Given the description of an element on the screen output the (x, y) to click on. 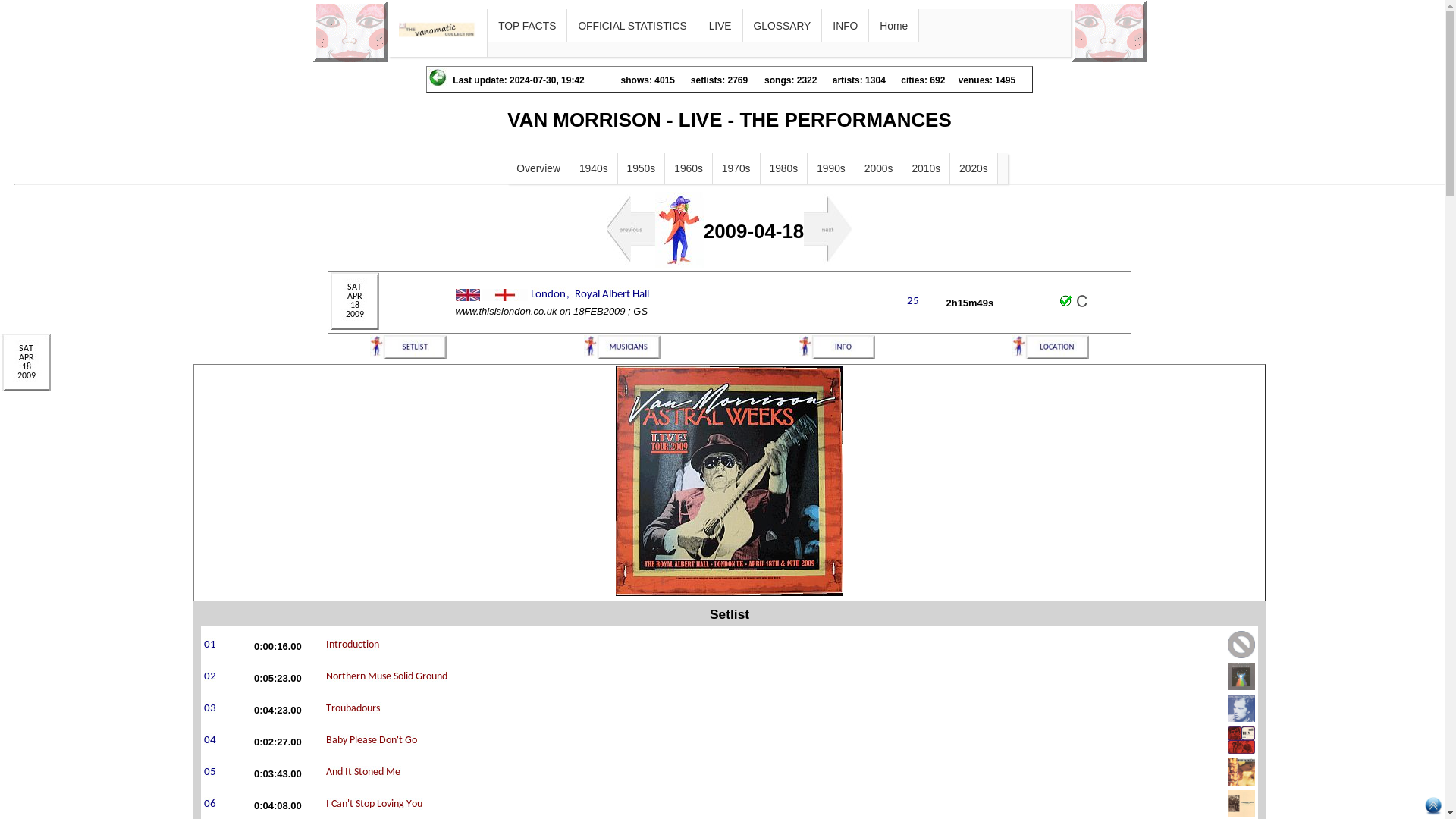
1950s (641, 168)
TOP FACTS (526, 25)
INFO (844, 25)
LIVE (720, 25)
Overview (537, 168)
England (504, 295)
take me back from where I came from (437, 76)
show review available (1081, 300)
Home (893, 25)
complete recording (1066, 300)
